Given the description of an element on the screen output the (x, y) to click on. 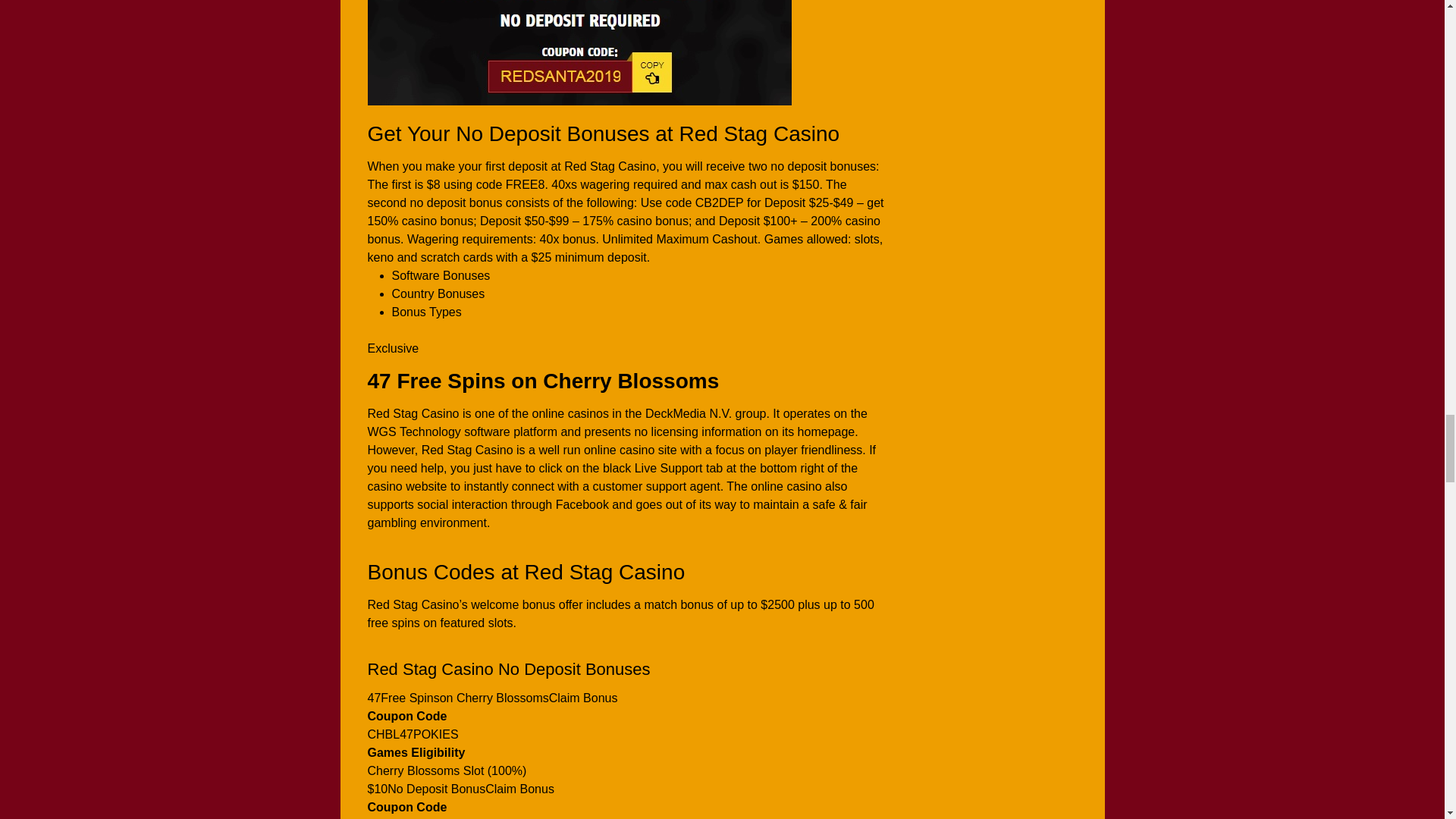
Red (578, 52)
